Given the description of an element on the screen output the (x, y) to click on. 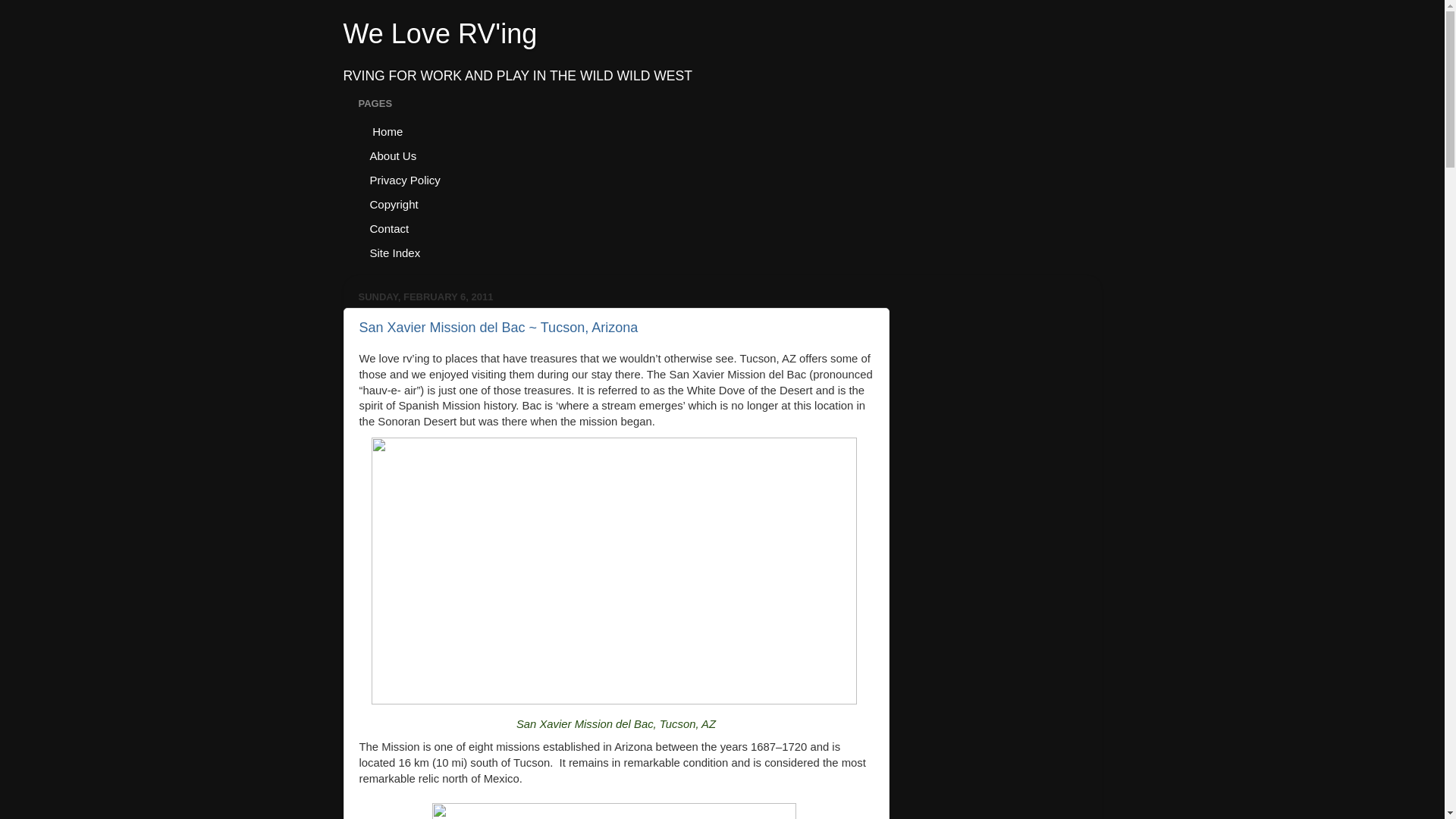
Contact (389, 228)
Privacy Policy (404, 179)
Site Index (395, 252)
We Love RV'ing (439, 33)
About Us (393, 155)
Copyright (393, 203)
Home (386, 130)
